Given the description of an element on the screen output the (x, y) to click on. 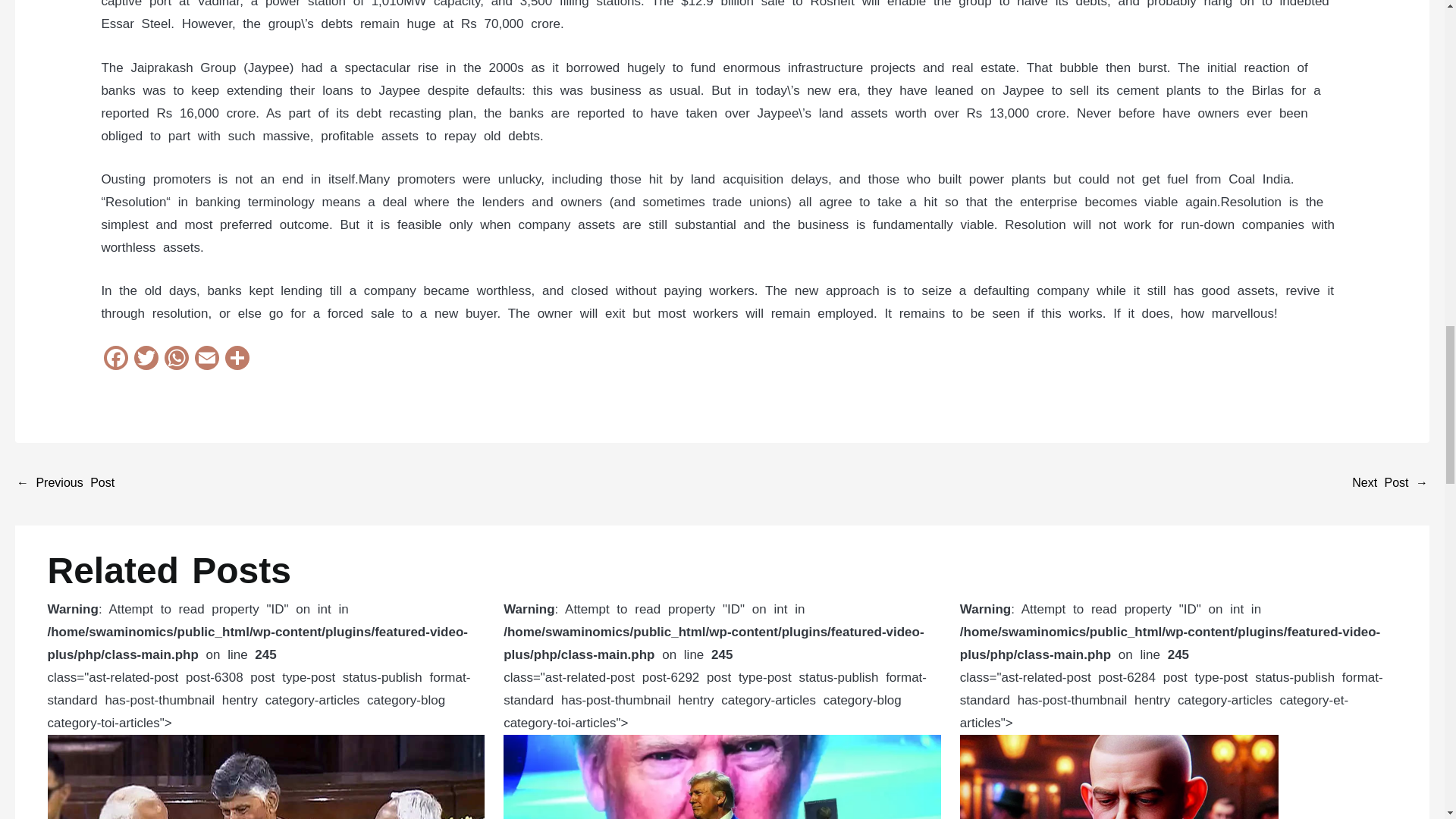
Facebook (115, 359)
Twitter (146, 359)
Facebook (115, 359)
Share (236, 359)
Twitter (146, 359)
Members of the Same Tribe (65, 483)
WhatsApp (176, 359)
Email (207, 359)
Email (207, 359)
WhatsApp (176, 359)
